Given the description of an element on the screen output the (x, y) to click on. 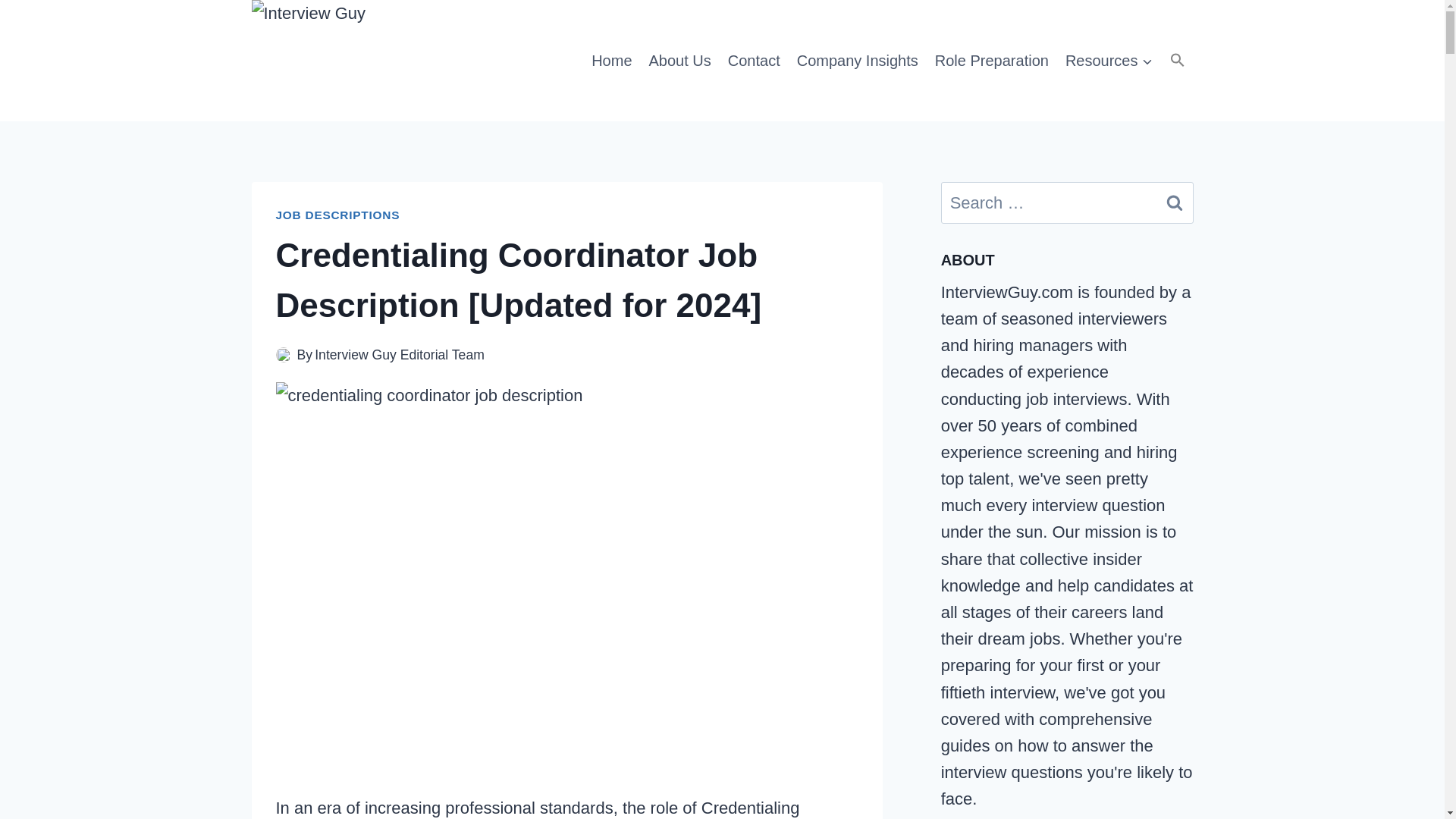
Search (1174, 202)
Search (1174, 202)
Interview Guy Editorial Team (399, 354)
Company Insights (857, 60)
Role Preparation (991, 60)
JOB DESCRIPTIONS (338, 214)
Resources (1109, 60)
About Us (679, 60)
